Given the description of an element on the screen output the (x, y) to click on. 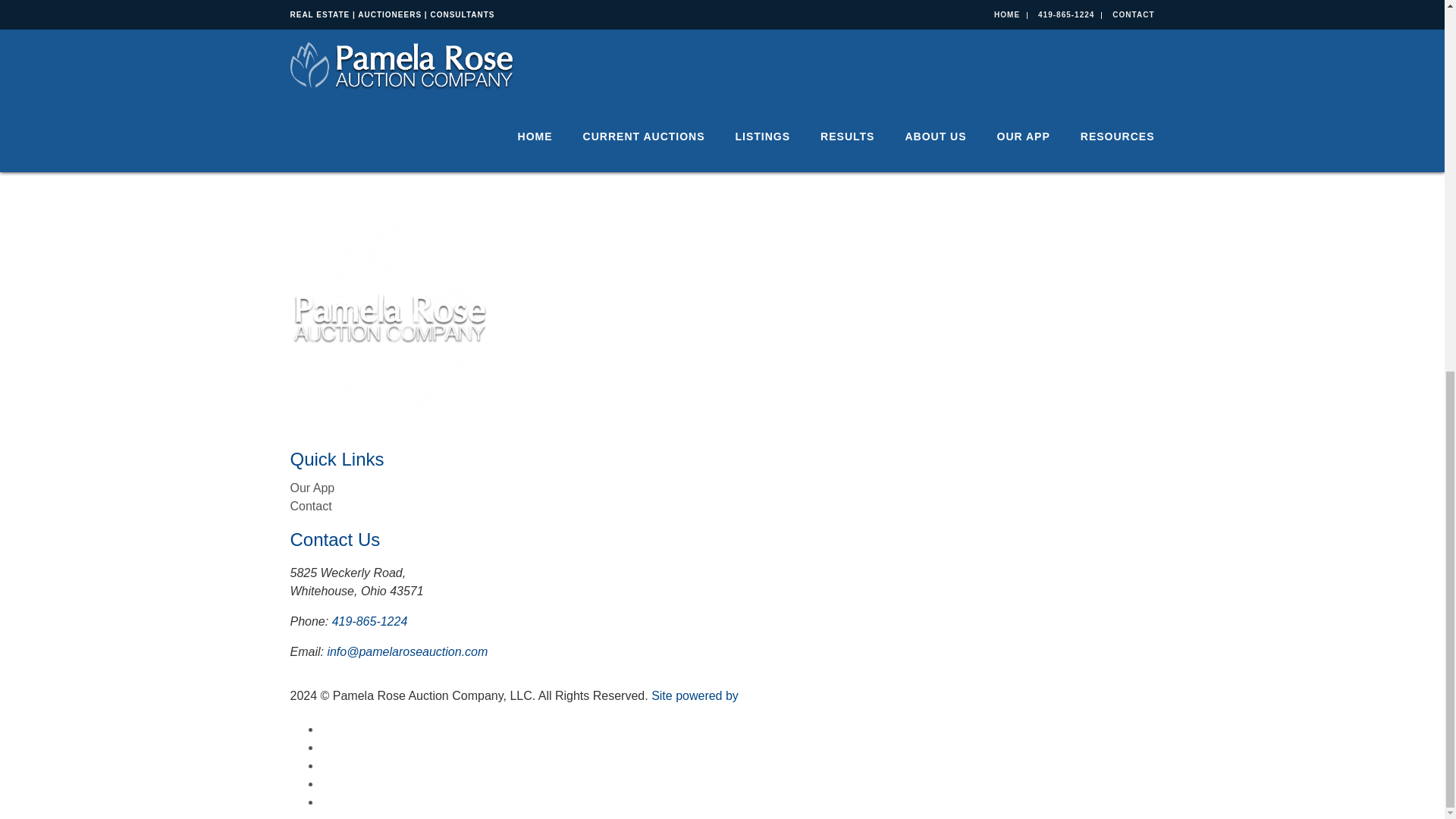
Contact (310, 505)
419-865-1224 (369, 621)
Site powered by (752, 695)
Our App (311, 487)
